Given the description of an element on the screen output the (x, y) to click on. 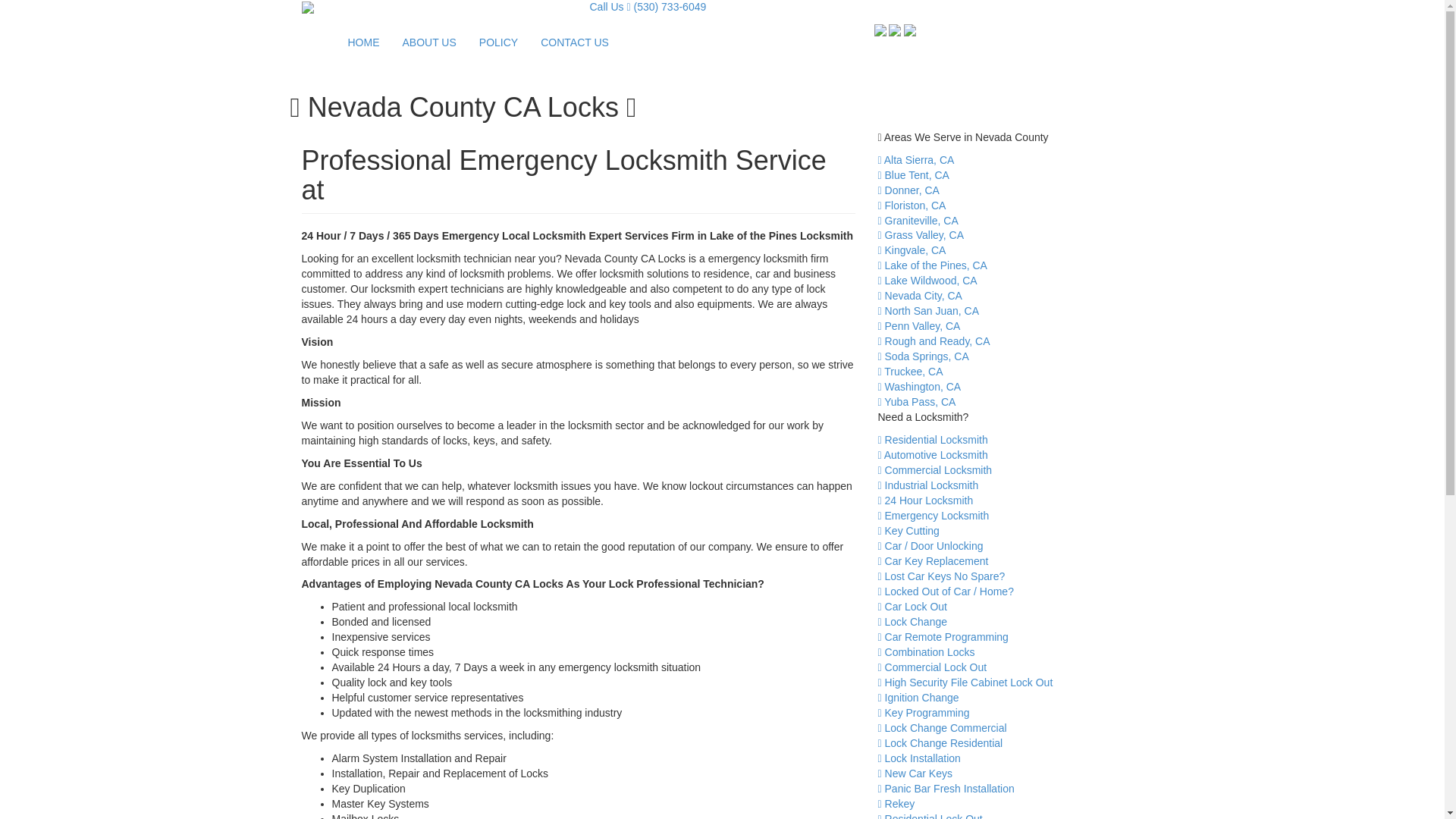
Yuba Pass, CA (916, 401)
24 Hour Locksmith (925, 500)
POLICY (498, 42)
ABOUT US (429, 42)
Soda Springs, CA (923, 356)
Graniteville, CA (917, 219)
North San Juan, CA (928, 310)
HOME (363, 42)
Blue Tent, CA (913, 174)
Industrial Locksmith (927, 485)
